Given the description of an element on the screen output the (x, y) to click on. 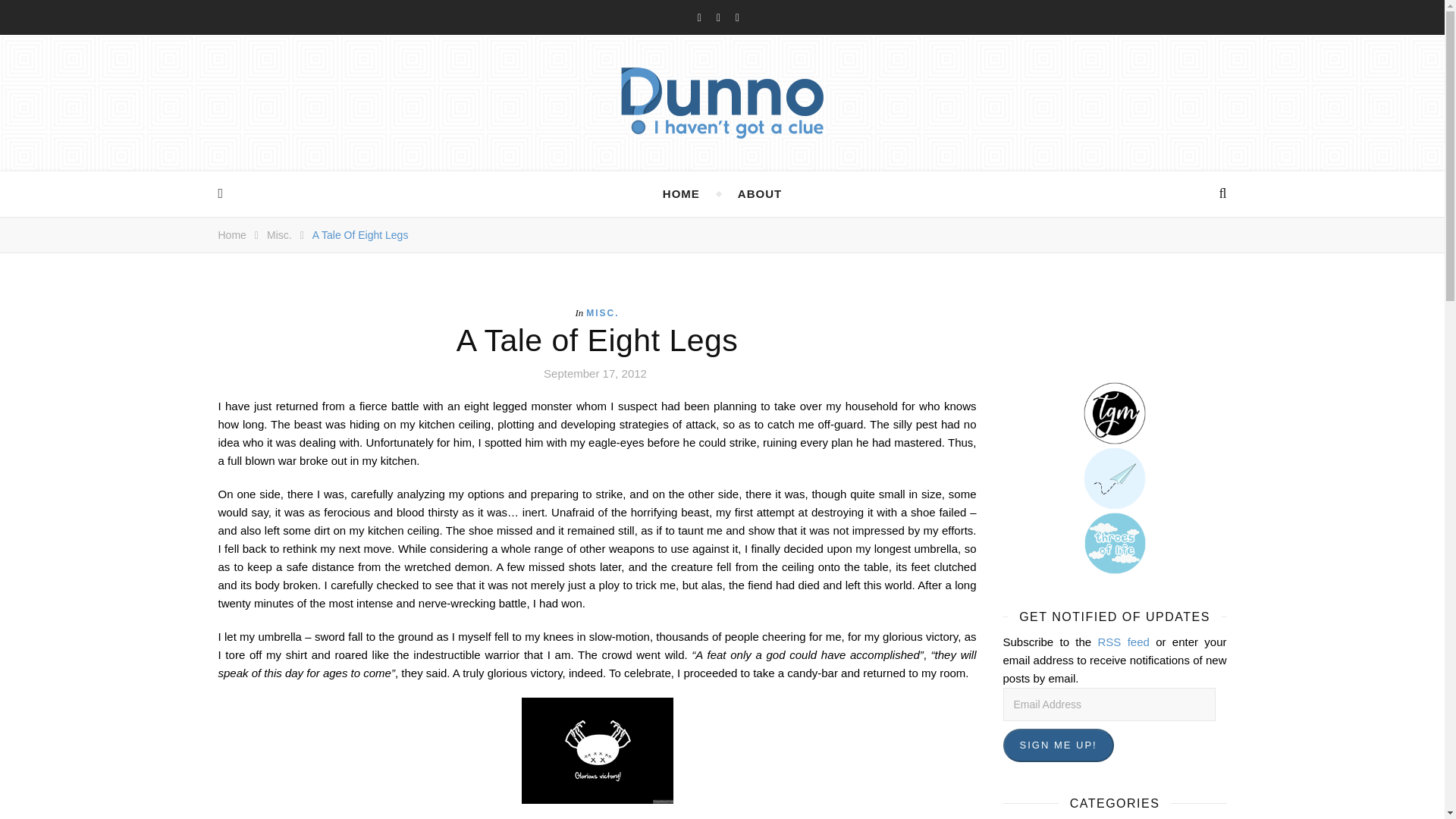
Home (232, 234)
Paper Planes (1114, 478)
Dunno (722, 102)
ABOUT (759, 194)
RSS (1123, 641)
A Tale of Eight Legs (361, 234)
SIGN ME UP! (1058, 745)
Misc. (279, 234)
Misc. (279, 234)
Home (232, 234)
